Given the description of an element on the screen output the (x, y) to click on. 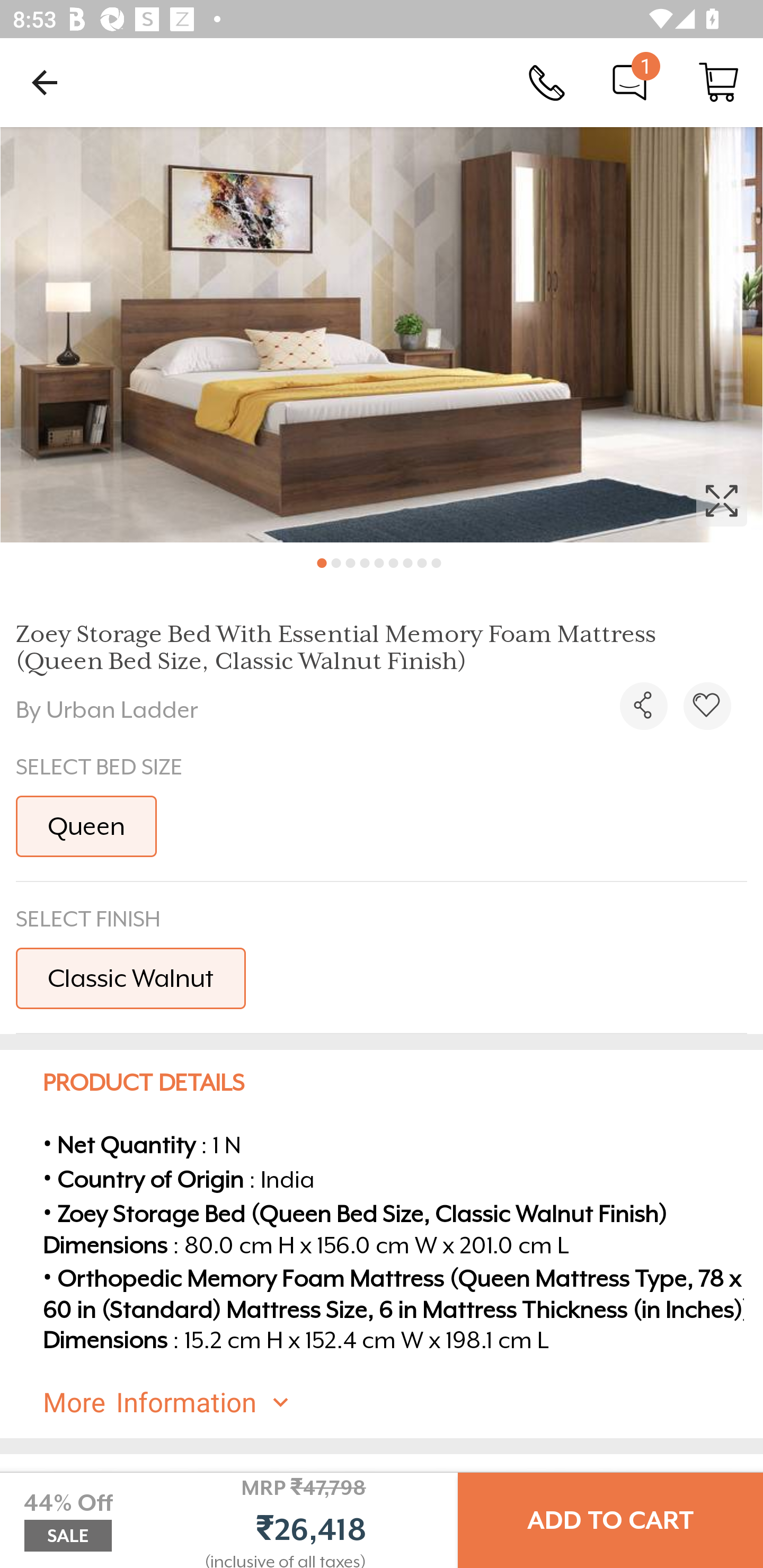
Navigate up (44, 82)
Call Us (546, 81)
Chat (629, 81)
Cart (718, 81)
 (381, 334)
 (643, 706)
 (706, 706)
Queen (86, 825)
Classic Walnut (130, 978)
More Information  (396, 1402)
ADD TO CART (610, 1520)
